Given the description of an element on the screen output the (x, y) to click on. 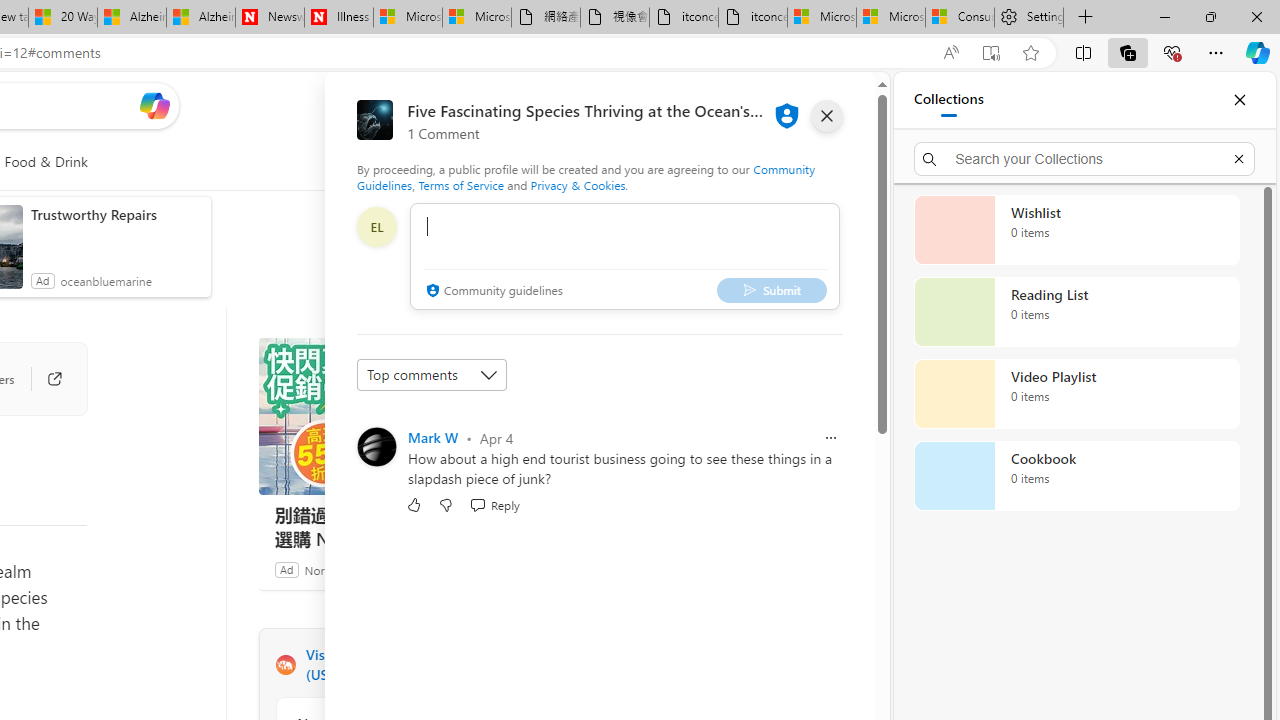
oceanbluemarine (106, 280)
Reading List collection, 0 items (1076, 312)
Visit Animals Around The Globe (US) website (532, 664)
Newsweek - News, Analysis, Politics, Business, Technology (269, 17)
Community Guidelines (586, 176)
Food & Drink (45, 162)
Animals Around The Globe (US) (285, 665)
Community guidelines (492, 291)
Submit (771, 290)
Sort comments by (431, 374)
